Given the description of an element on the screen output the (x, y) to click on. 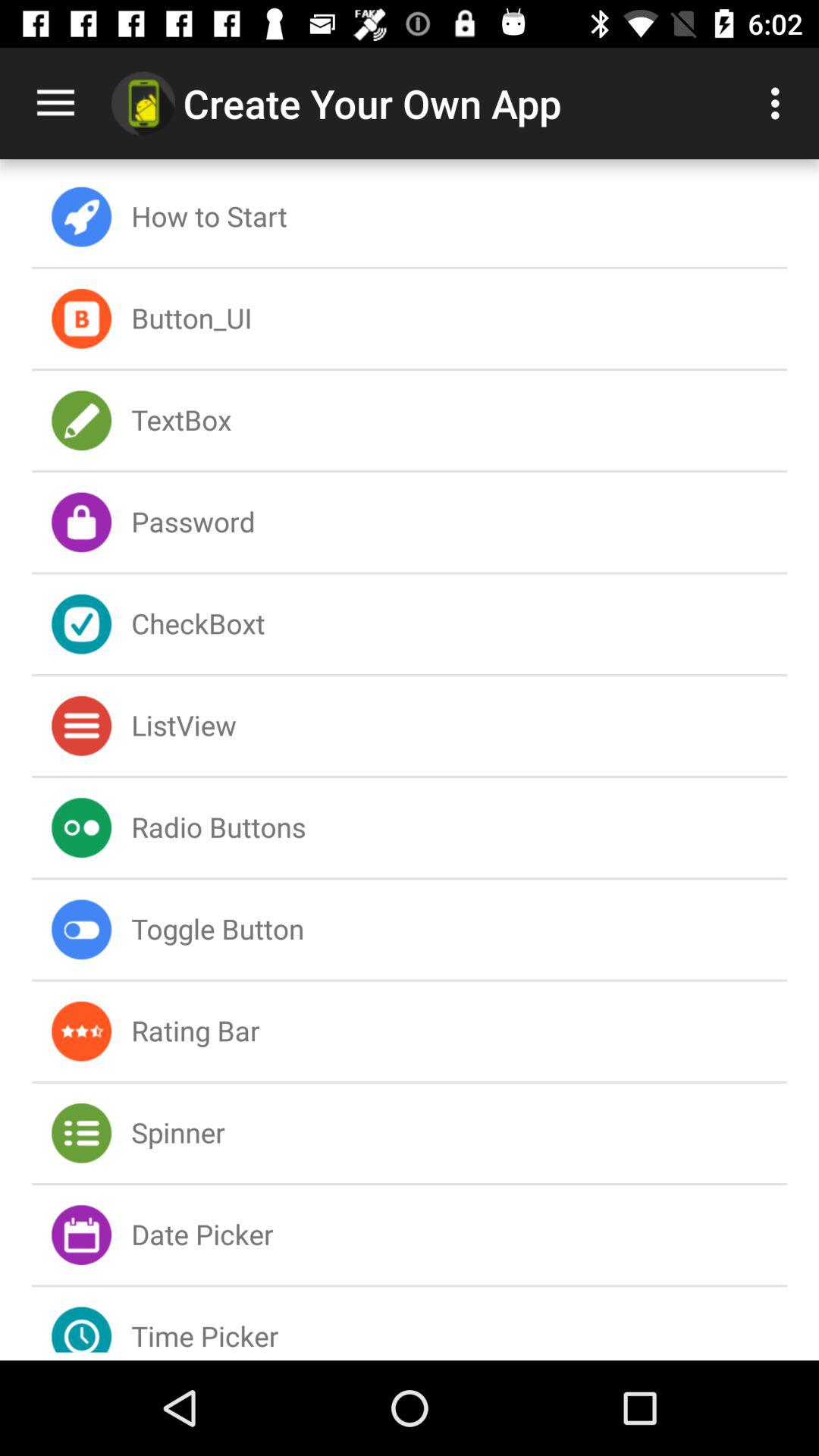
click the icon left to radio buttons (81, 827)
click on icon which is beside listview (81, 726)
click on icon beside time picker (81, 1319)
click on the icon left next to date picker (81, 1234)
select the icon on left to the button how to start on the web page (81, 216)
